Given the description of an element on the screen output the (x, y) to click on. 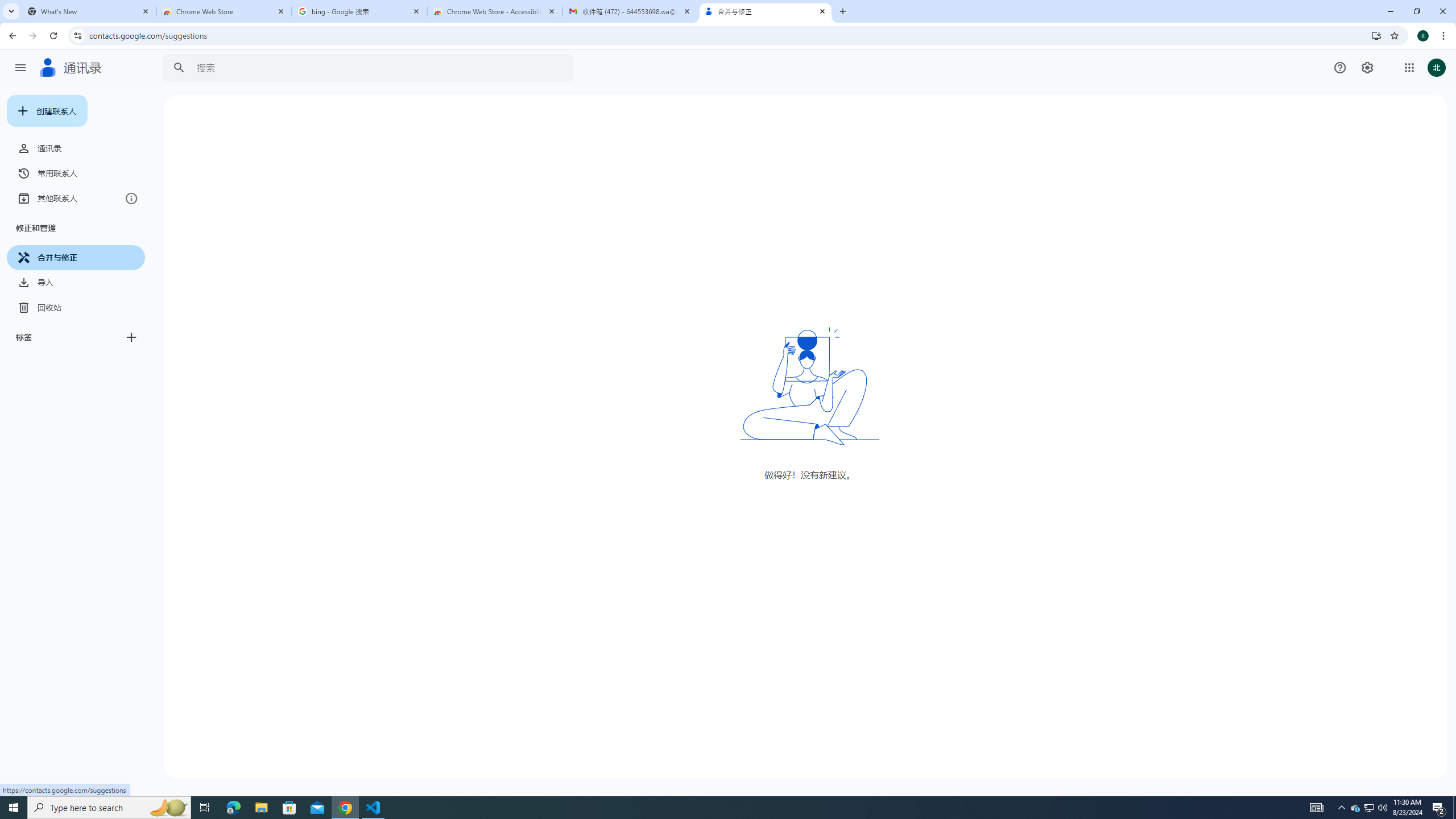
Install Google Contacts (1376, 35)
Chrome Web Store (224, 11)
